Given the description of an element on the screen output the (x, y) to click on. 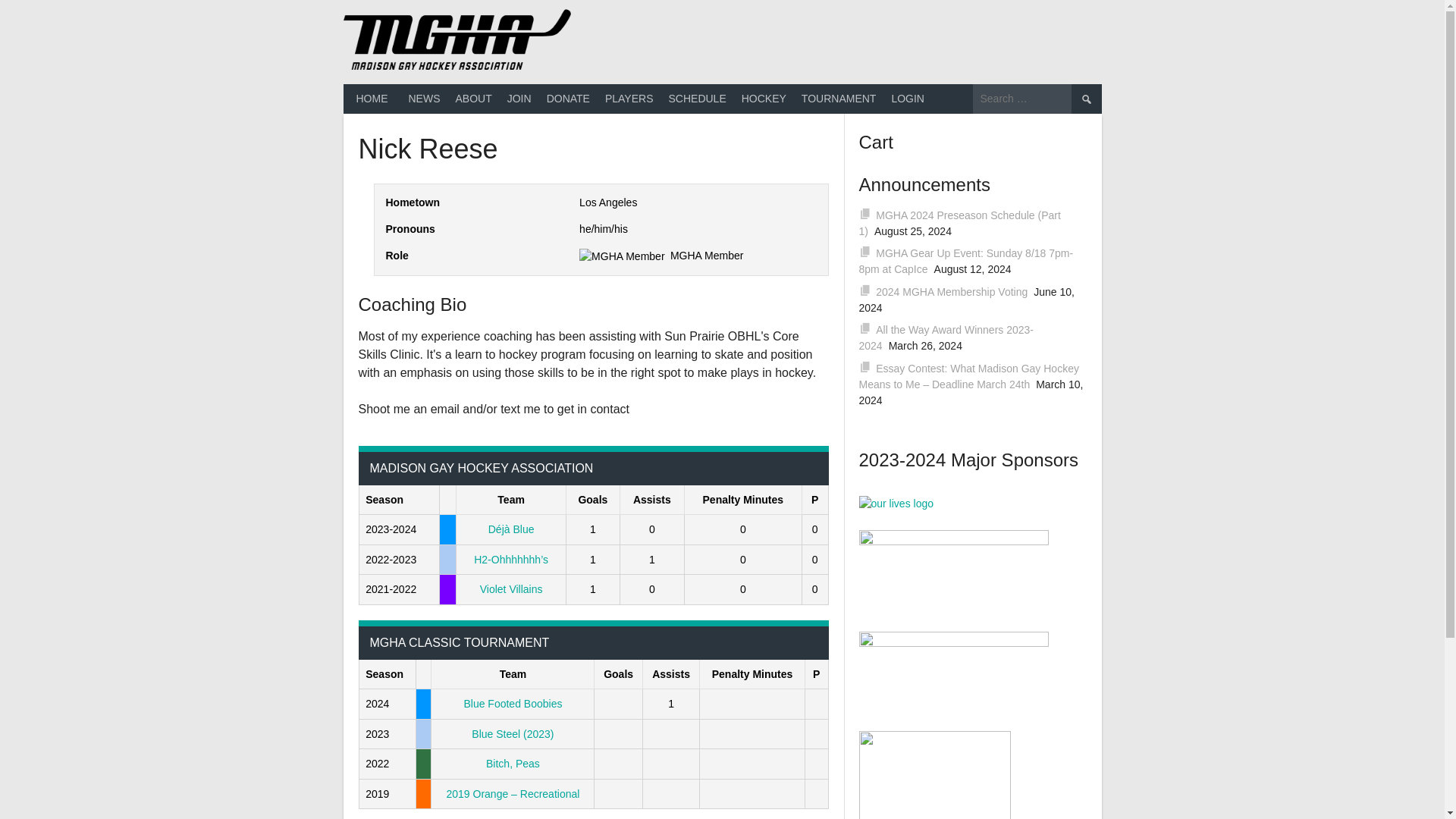
TOURNAMENT (838, 98)
MGHA Member (705, 255)
NEWS (423, 98)
PLAYERS (628, 98)
LOGIN (907, 98)
HOME (371, 98)
ABOUT (472, 98)
MGHA Member (621, 256)
Search (1085, 98)
SCHEDULE (697, 98)
